Given the description of an element on the screen output the (x, y) to click on. 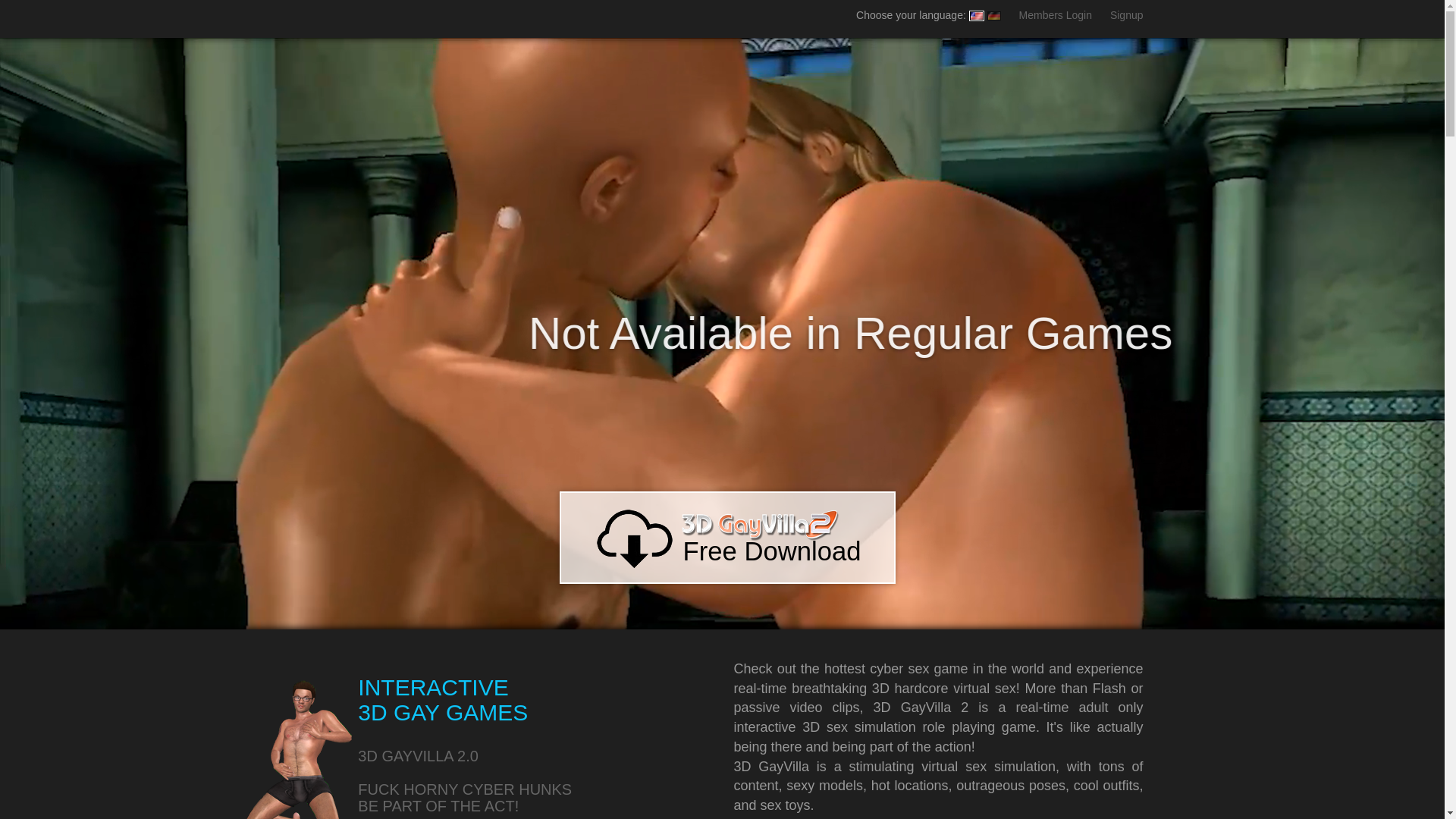
Members Login Element type: text (1055, 14)
Free Download Element type: text (727, 537)
Signup Element type: text (1126, 14)
